Given the description of an element on the screen output the (x, y) to click on. 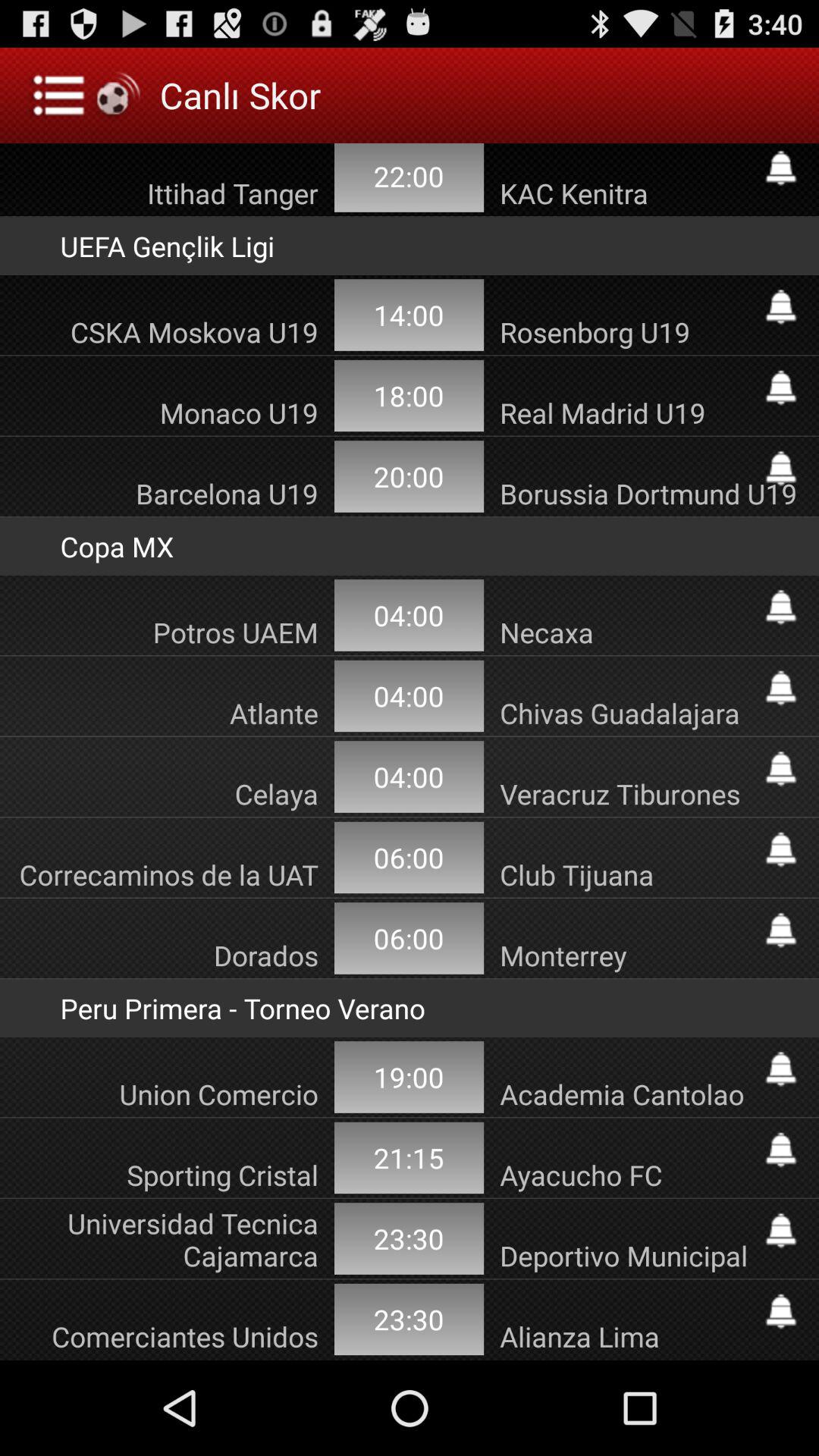
toggle alarm (780, 849)
